Given the description of an element on the screen output the (x, y) to click on. 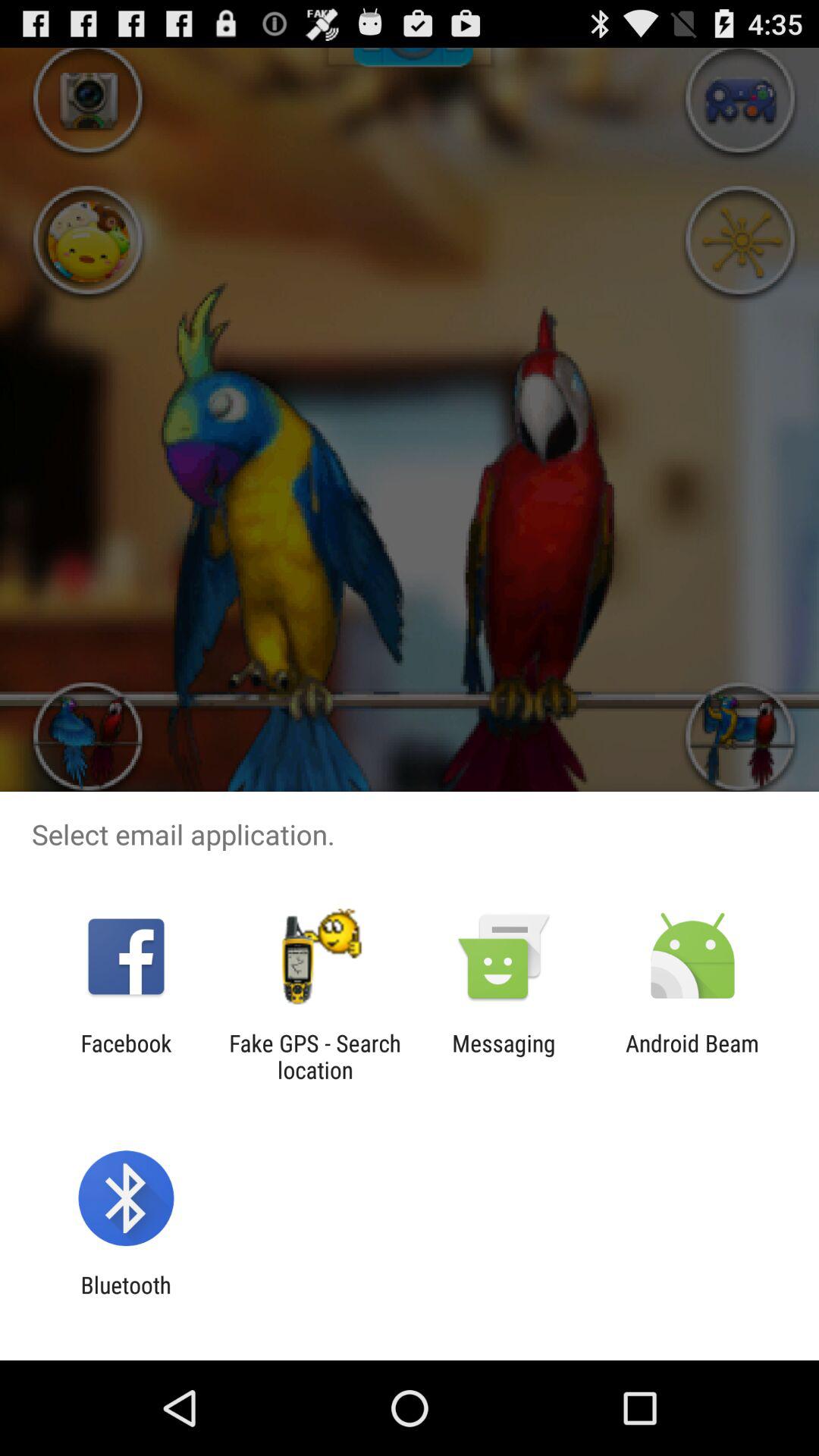
flip to messaging item (503, 1056)
